Given the description of an element on the screen output the (x, y) to click on. 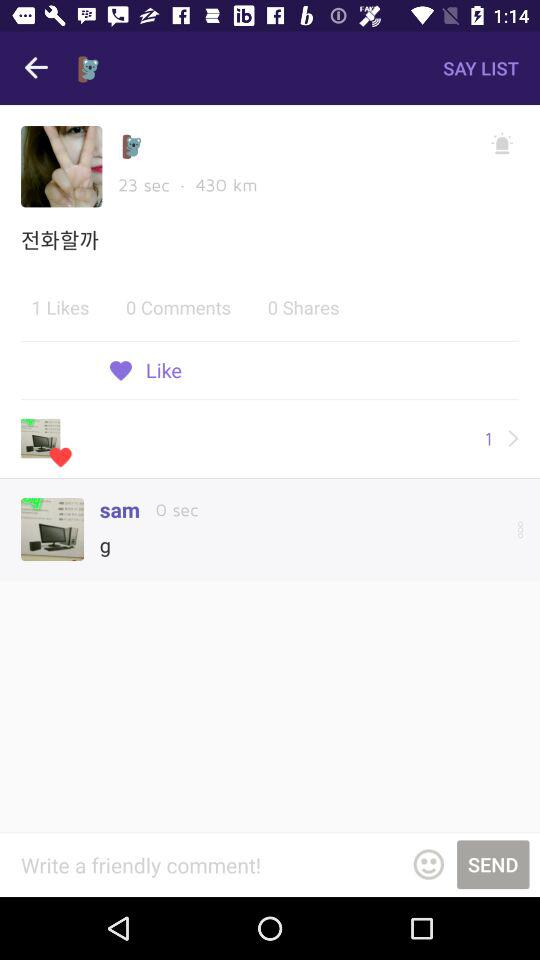
click on the first image (61, 166)
